Given the description of an element on the screen output the (x, y) to click on. 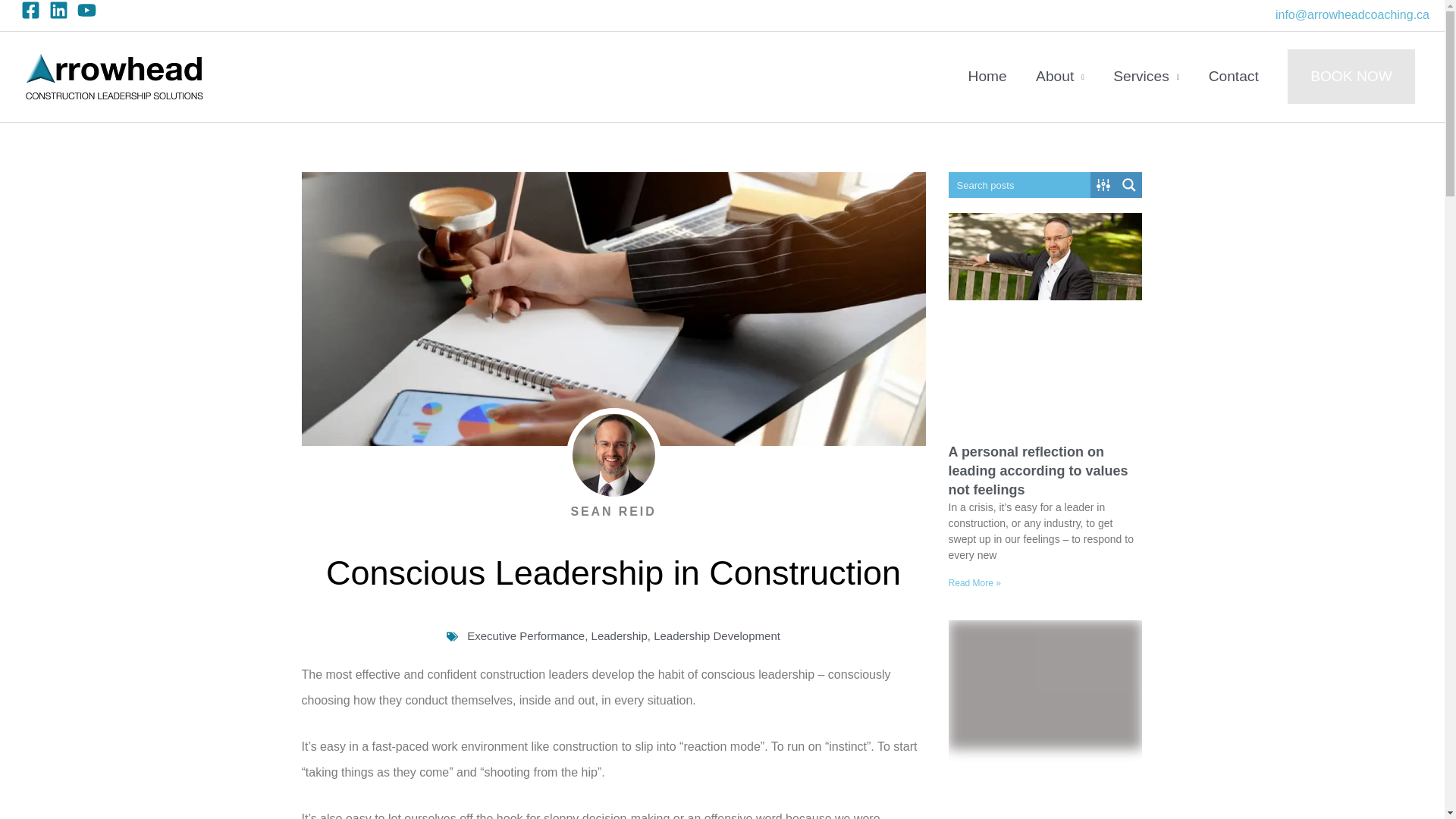
About (1060, 76)
Services (1146, 76)
BOOK NOW (1351, 76)
Home (987, 76)
Contact (1232, 76)
